Given the description of an element on the screen output the (x, y) to click on. 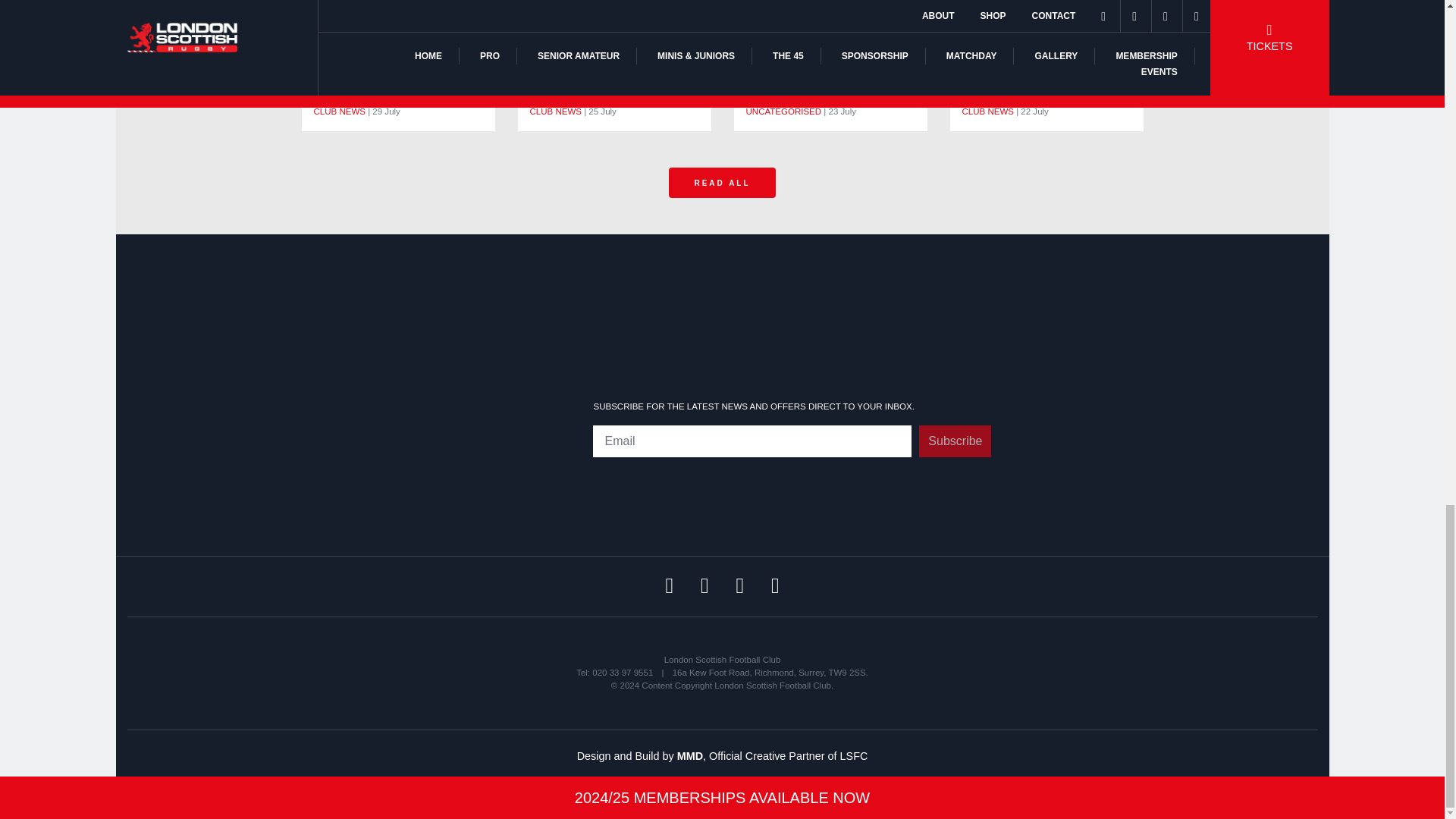
Subscribe (954, 441)
